Given the description of an element on the screen output the (x, y) to click on. 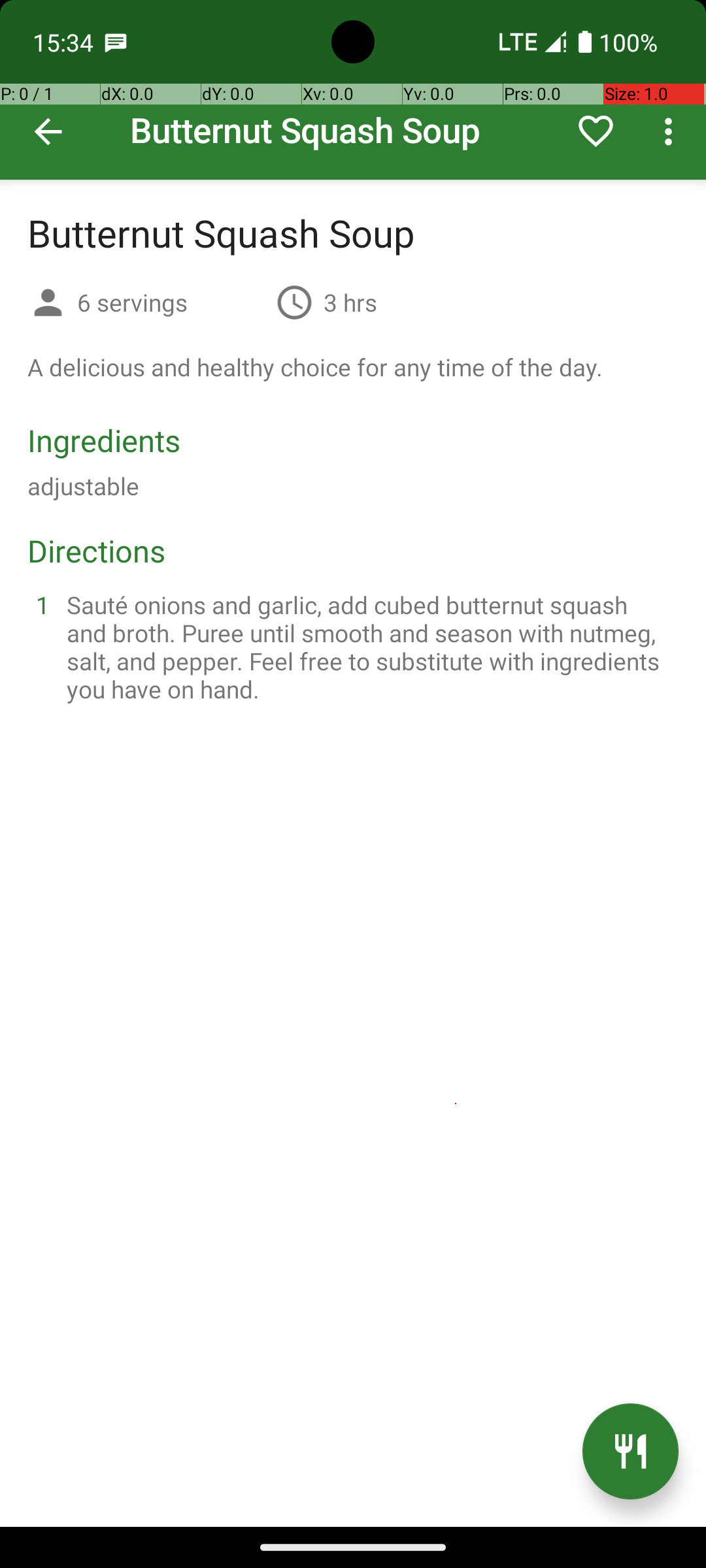
Sauté onions and garlic, add cubed butternut squash and broth. Puree until smooth and season with nutmeg, salt, and pepper. Feel free to substitute with ingredients you have on hand. Element type: android.widget.TextView (368, 646)
SMS Messenger notification: Isla da Silva Element type: android.widget.ImageView (115, 41)
